Given the description of an element on the screen output the (x, y) to click on. 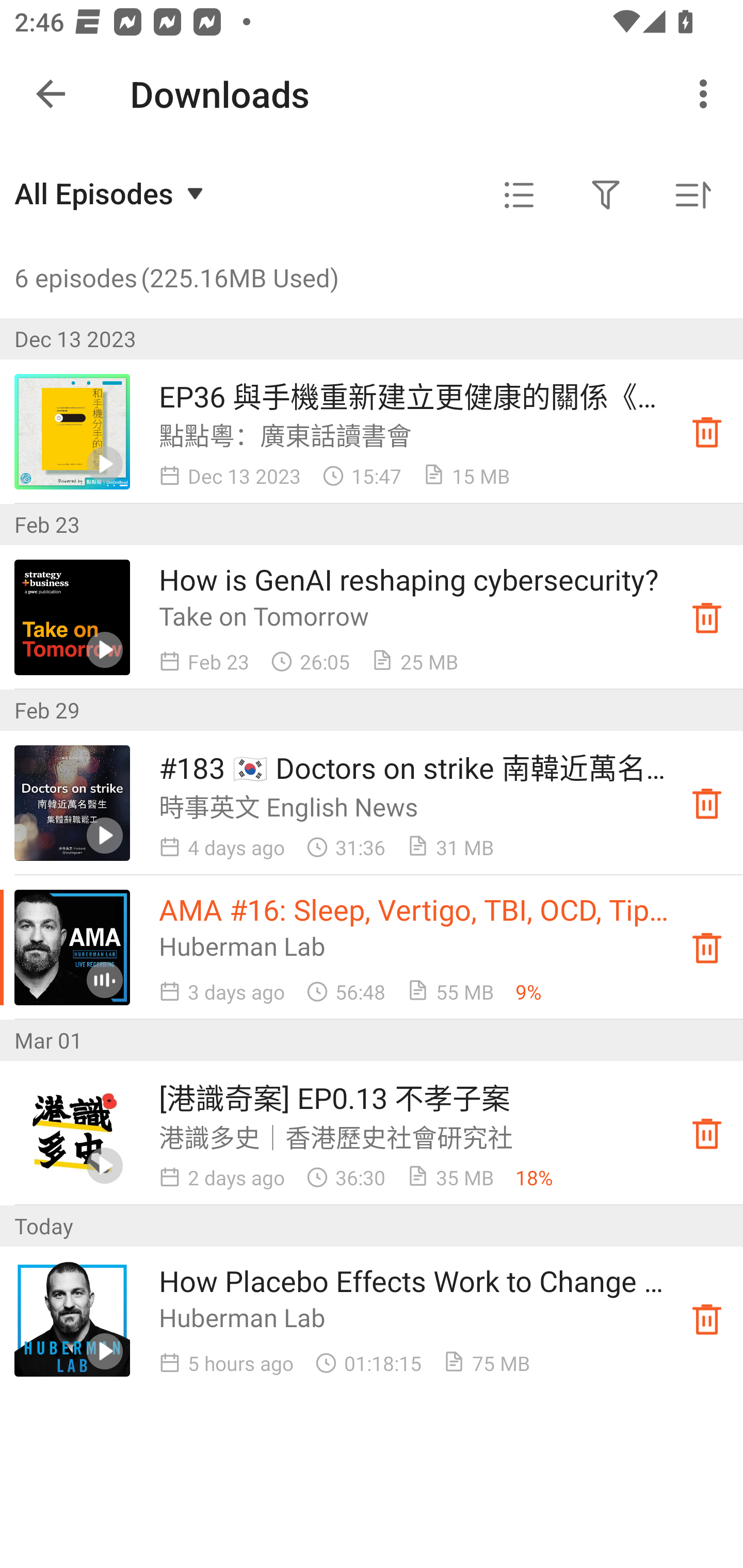
Navigate up (50, 93)
More options (706, 93)
All Episodes (111, 192)
 (518, 195)
 (605, 195)
 Sorted by oldest first (692, 195)
Downloaded (706, 431)
Downloaded (706, 617)
Downloaded (706, 802)
Downloaded (706, 947)
Downloaded (706, 1133)
Downloaded (706, 1318)
